Given the description of an element on the screen output the (x, y) to click on. 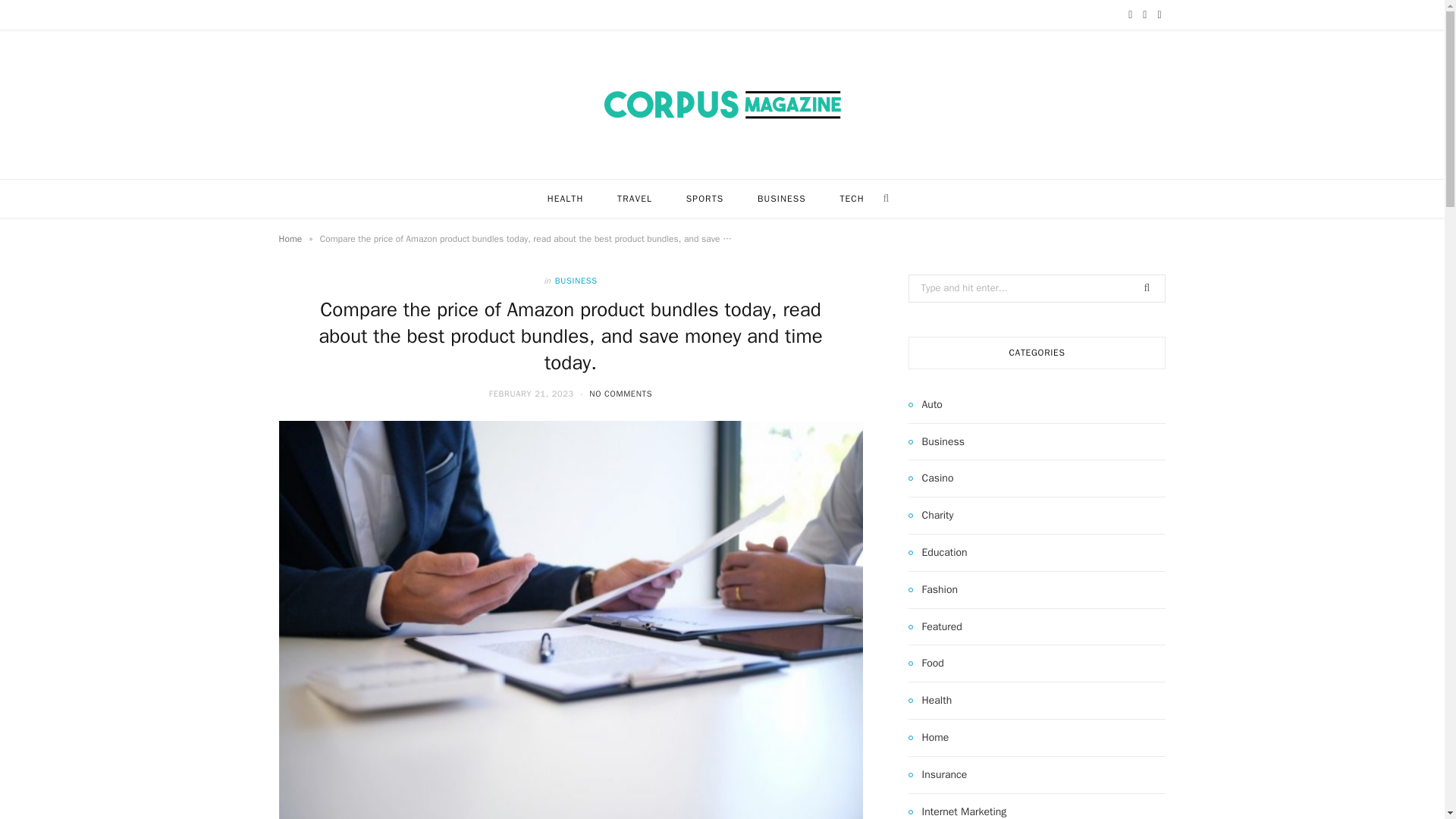
Casino (930, 478)
Home (290, 238)
SPORTS (704, 198)
Education (938, 552)
FEBRUARY 21, 2023 (532, 393)
HEALTH (565, 198)
Auto (925, 404)
TECH (851, 198)
BUSINESS (575, 280)
Charity (930, 515)
